Given the description of an element on the screen output the (x, y) to click on. 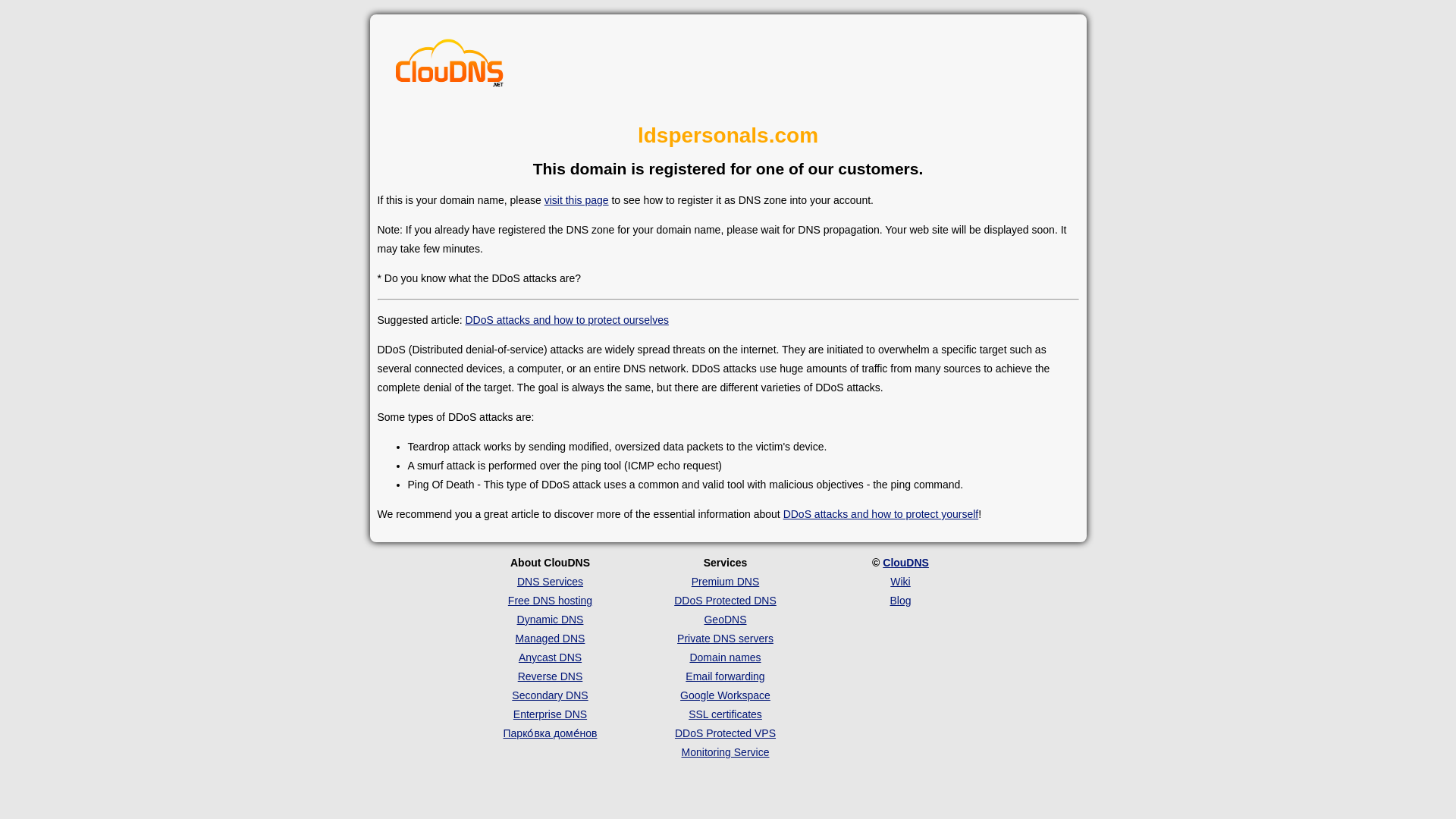
Managed DNS (550, 638)
GeoDNS (724, 619)
DDoS attacks and how to protect yourself (880, 513)
Google Workspace (724, 695)
Anycast DNS (549, 657)
Free DNS hosting (550, 600)
Monitoring Service (725, 752)
Cloud DNS (449, 66)
visit this page (576, 200)
Private DNS servers (725, 638)
Wiki (899, 581)
Secondary DNS (550, 695)
DDoS Protected DNS (725, 600)
ClouDNS (905, 562)
DDoS Protected VPS (725, 733)
